Given the description of an element on the screen output the (x, y) to click on. 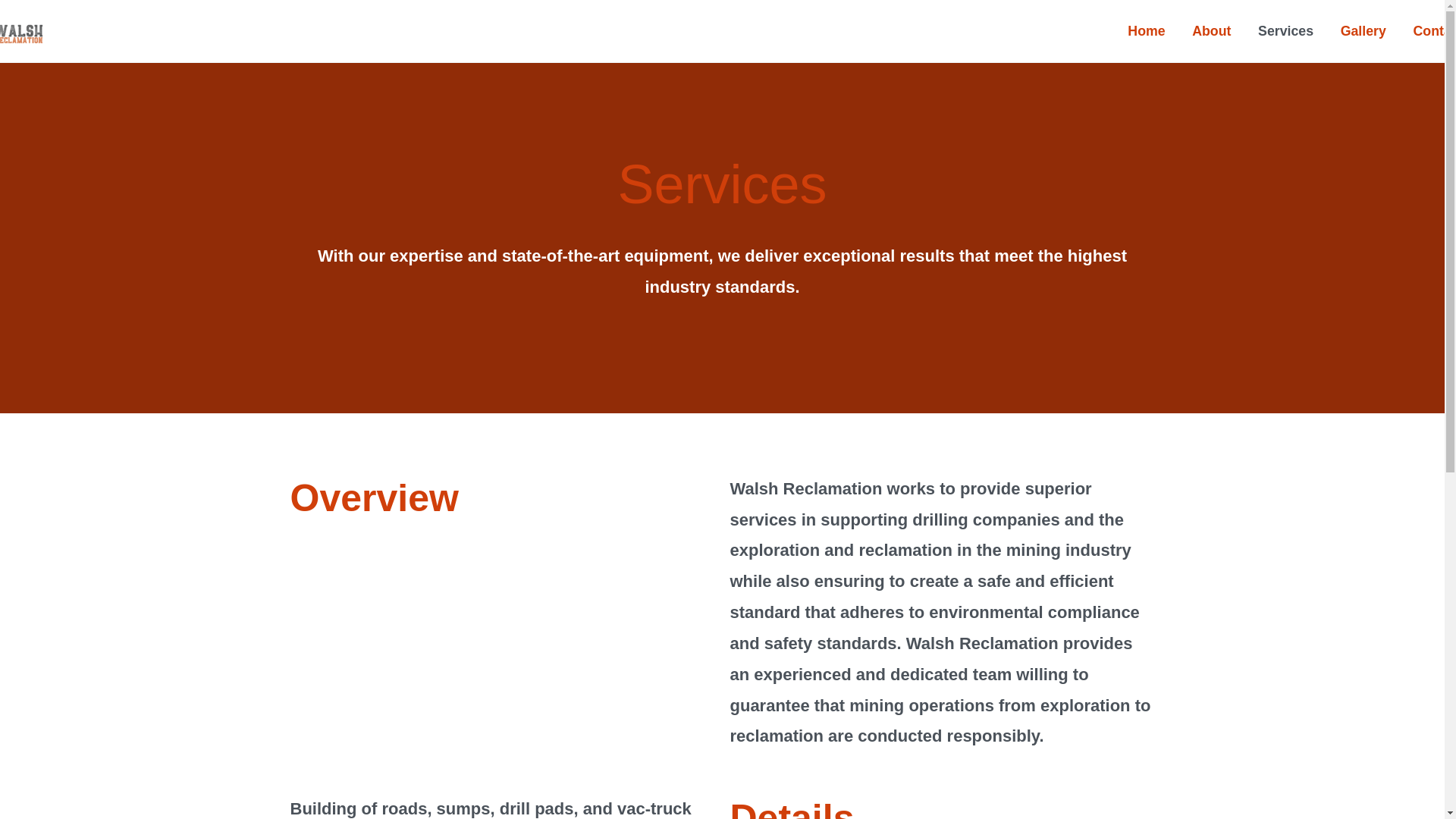
Services (1285, 30)
About (1210, 30)
Home (1147, 30)
Gallery (1362, 30)
